Given the description of an element on the screen output the (x, y) to click on. 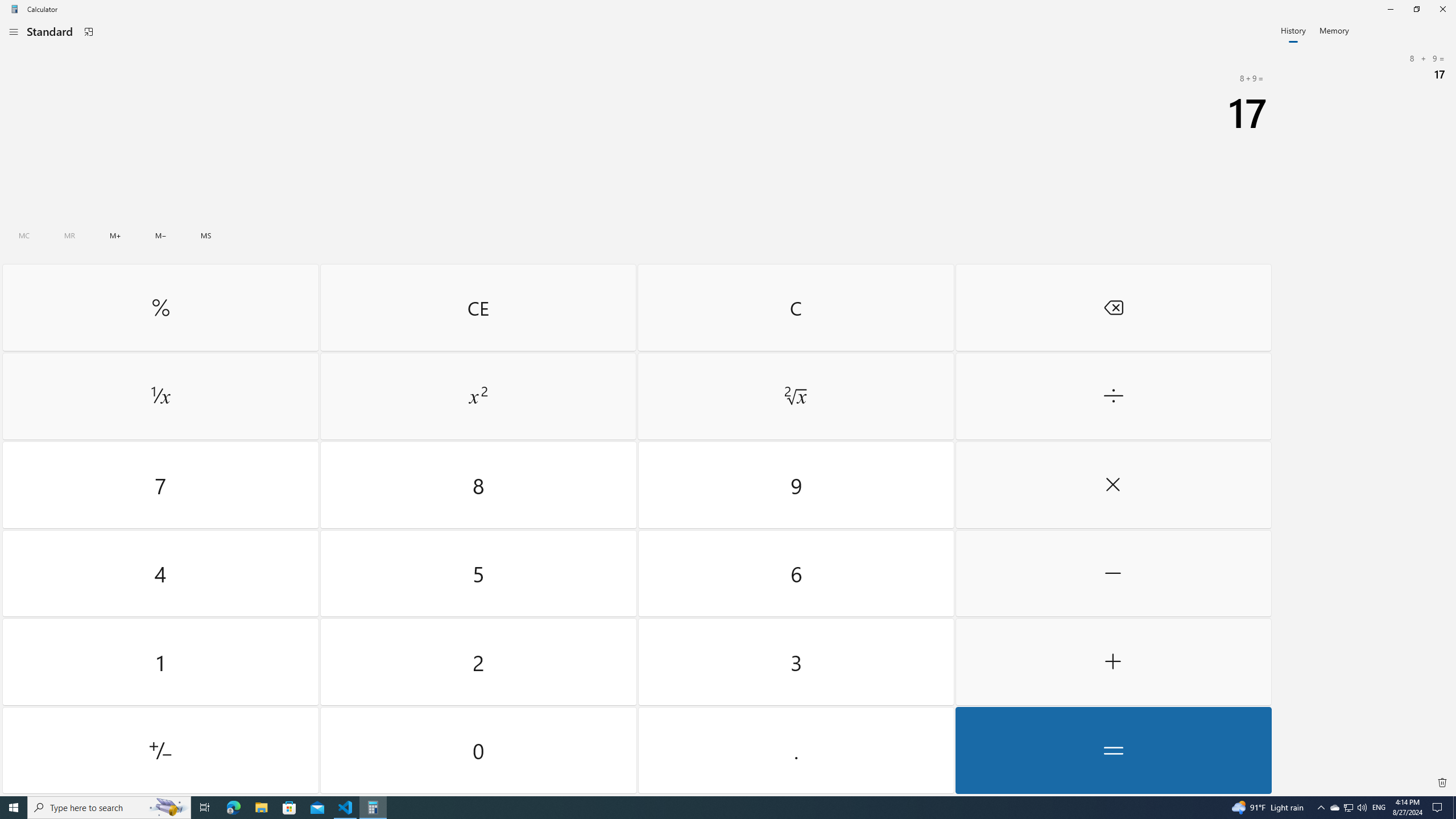
Zero (478, 749)
Percent (160, 307)
Two (478, 661)
Visual Studio Code - 1 running window (345, 807)
Seven (160, 485)
Nine (795, 485)
Minimize Calculator (1390, 9)
Eight (478, 485)
Equals (1113, 749)
Five (478, 572)
Type here to search (108, 807)
Clear entry (478, 307)
